Given the description of an element on the screen output the (x, y) to click on. 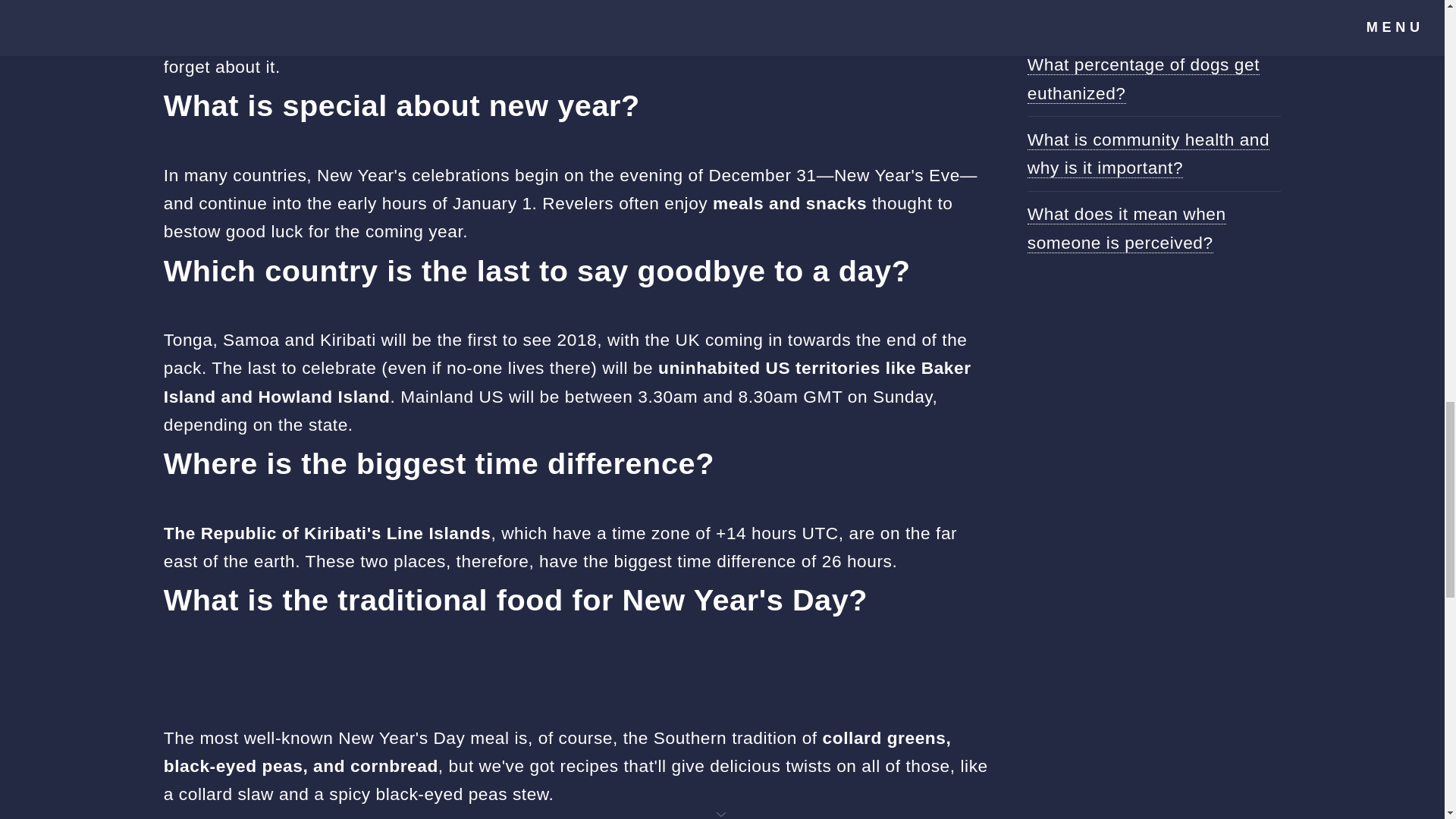
What is community health and why is it important? (1148, 153)
What percentage of dogs get euthanized? (1143, 78)
What does it mean when someone is perceived? (1126, 227)
Where did the concept of karma originate? (1127, 14)
